Given the description of an element on the screen output the (x, y) to click on. 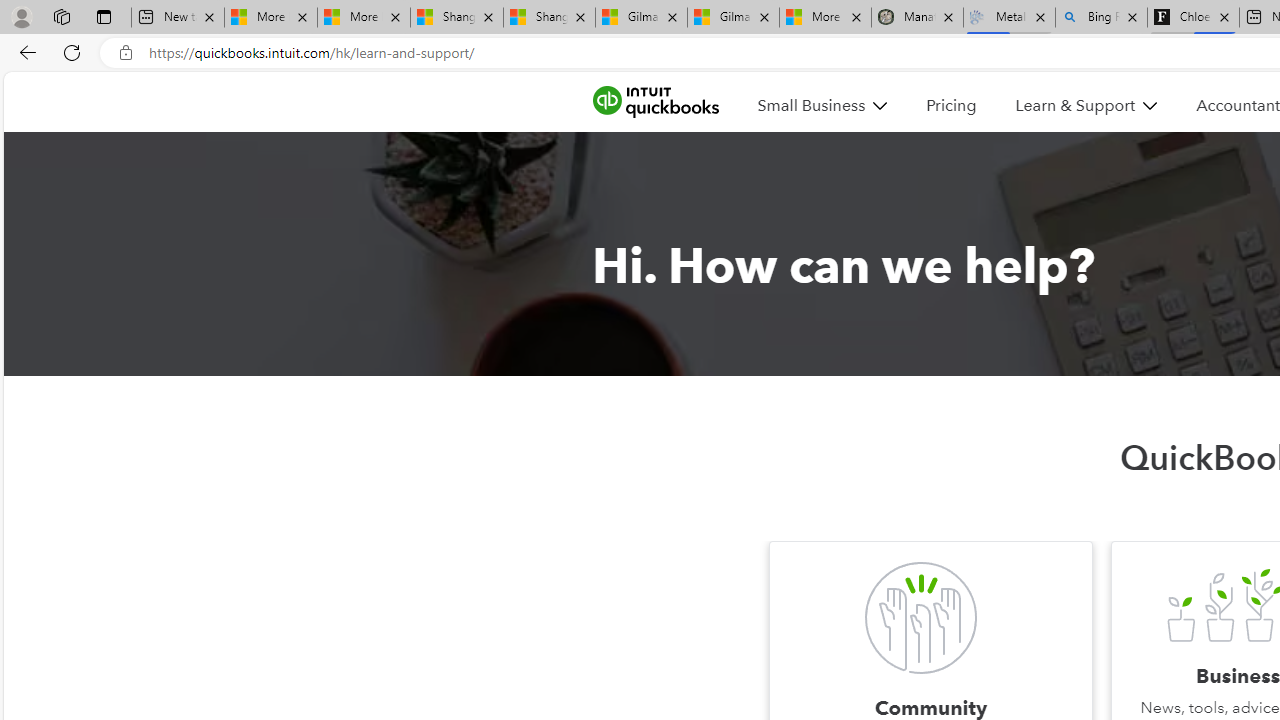
Manatee Mortality Statistics | FWC (916, 17)
quickbooks (655, 101)
Pricing (950, 105)
Bing Real Estate - Home sales and rental listings (1101, 17)
Pricing (950, 105)
Class: MenuItem_dDown__f585abf6 MenuItem_white__f585abf6 (1150, 106)
Learn & Support (1075, 105)
Community (920, 617)
